Given the description of an element on the screen output the (x, y) to click on. 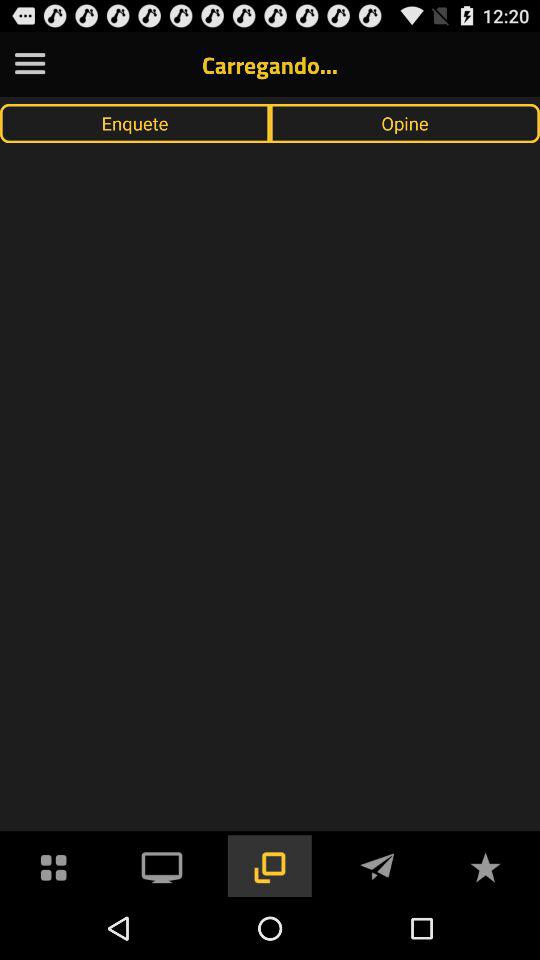
launch the item next to the enquete (405, 123)
